Given the description of an element on the screen output the (x, y) to click on. 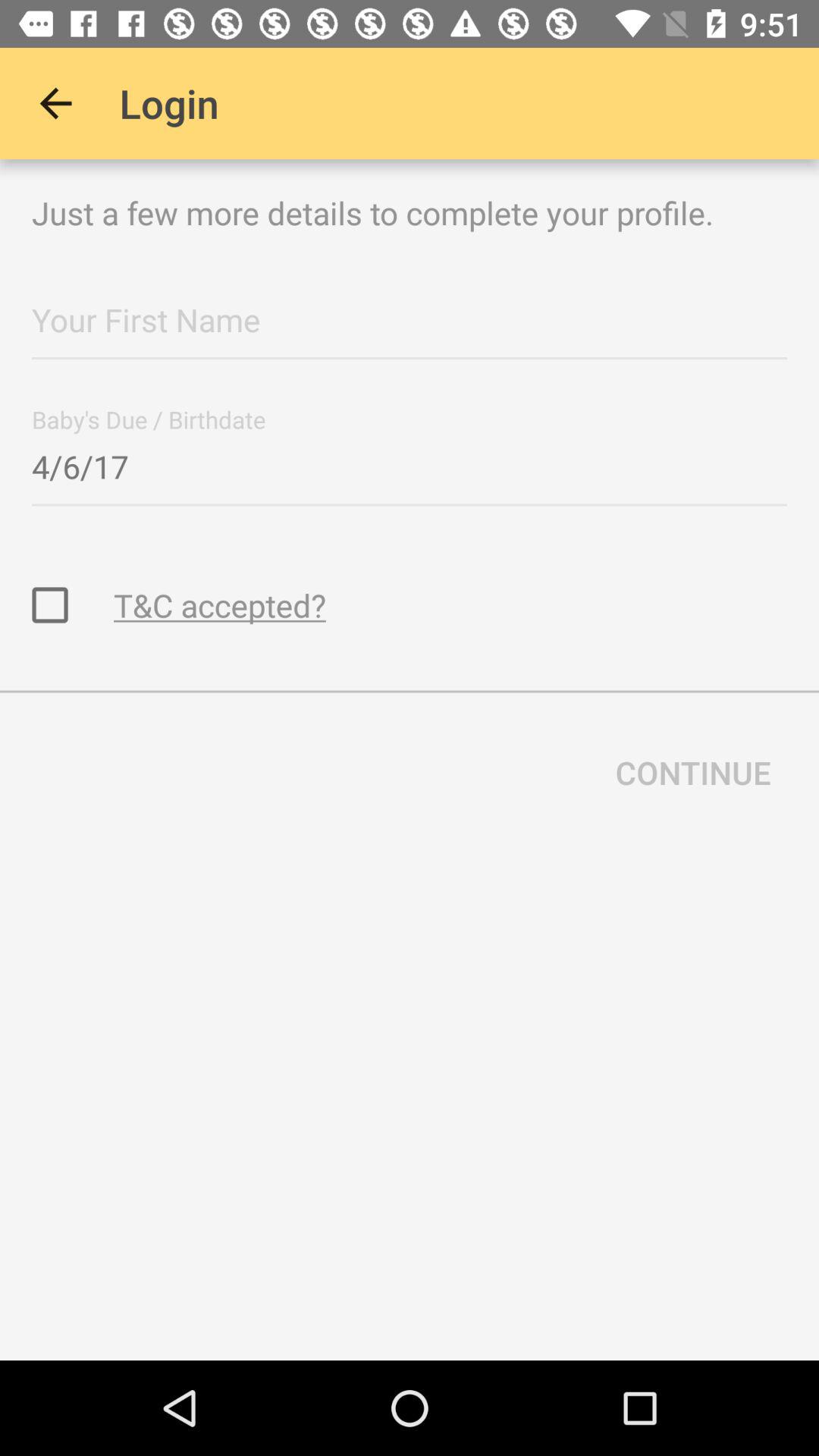
flip until continue (693, 772)
